Given the description of an element on the screen output the (x, y) to click on. 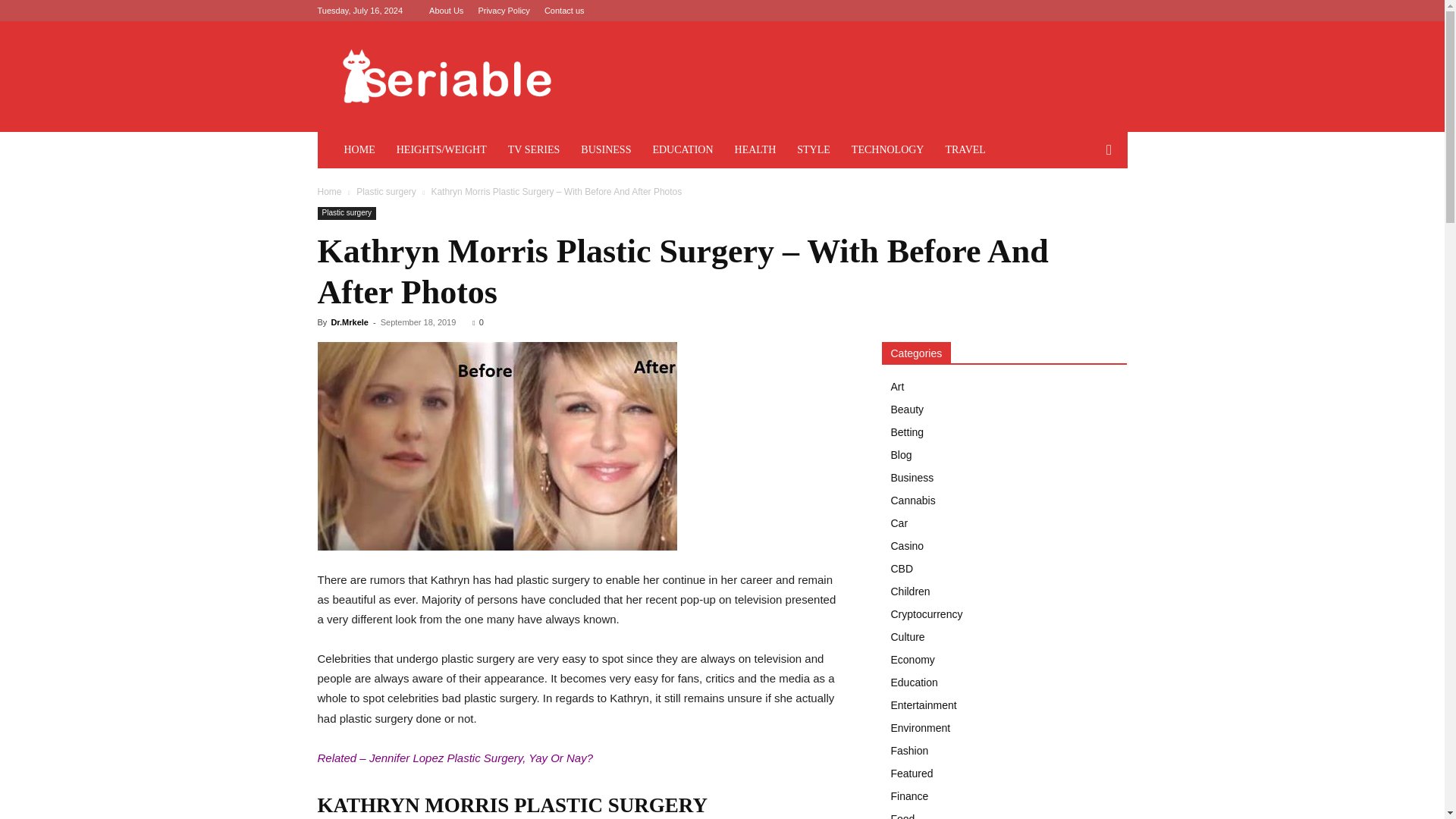
HEALTH (755, 149)
TRAVEL (964, 149)
TECHNOLOGY (887, 149)
STYLE (813, 149)
BUSINESS (606, 149)
TV SERIES (533, 149)
HOME (359, 149)
Contact us (564, 10)
About Us (446, 10)
View all posts in Plastic surgery (386, 191)
kathryn morris cover (497, 446)
EDUCATION (682, 149)
Privacy Policy (503, 10)
